Given the description of an element on the screen output the (x, y) to click on. 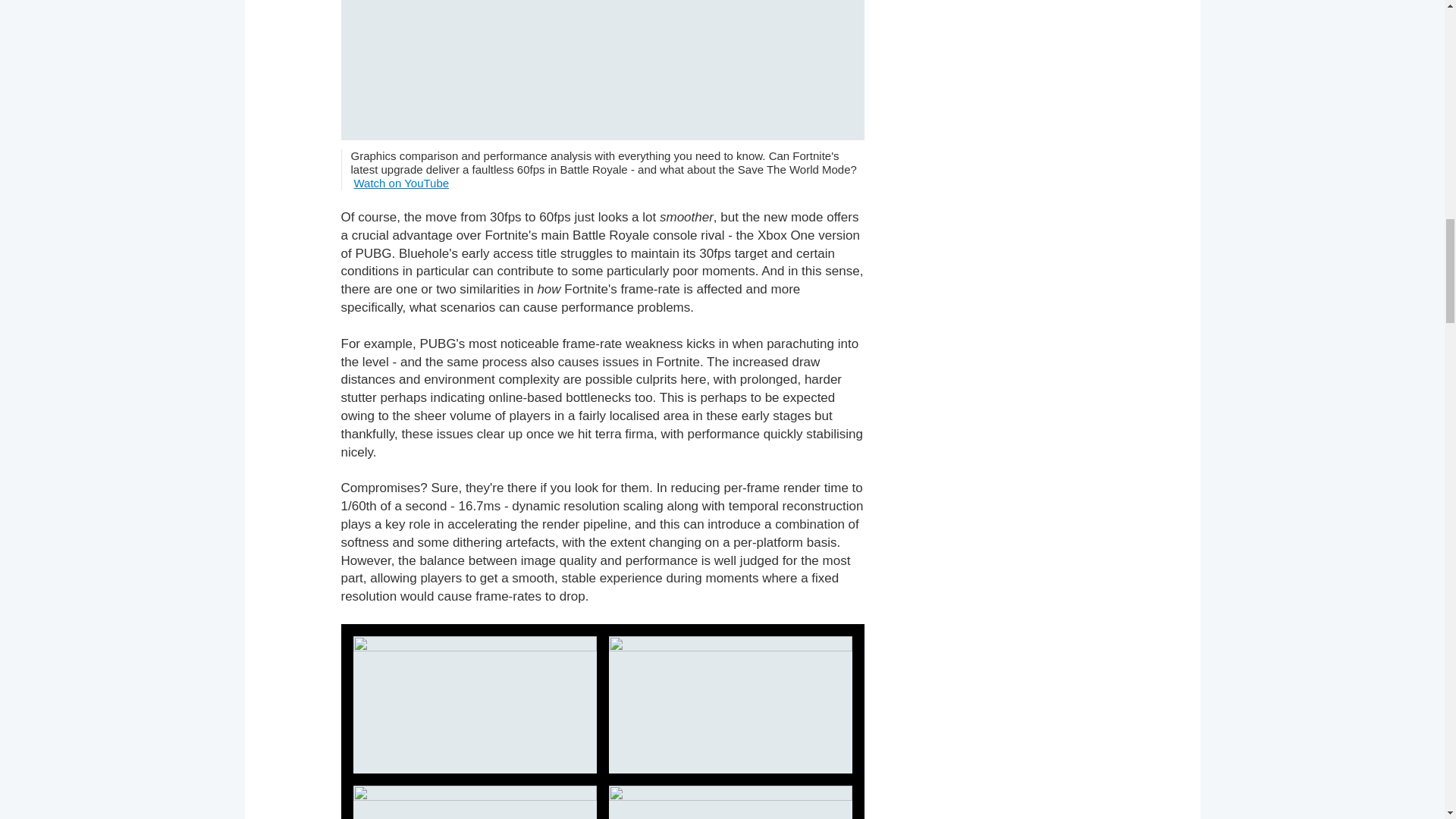
Watch on YouTube (400, 182)
